Given the description of an element on the screen output the (x, y) to click on. 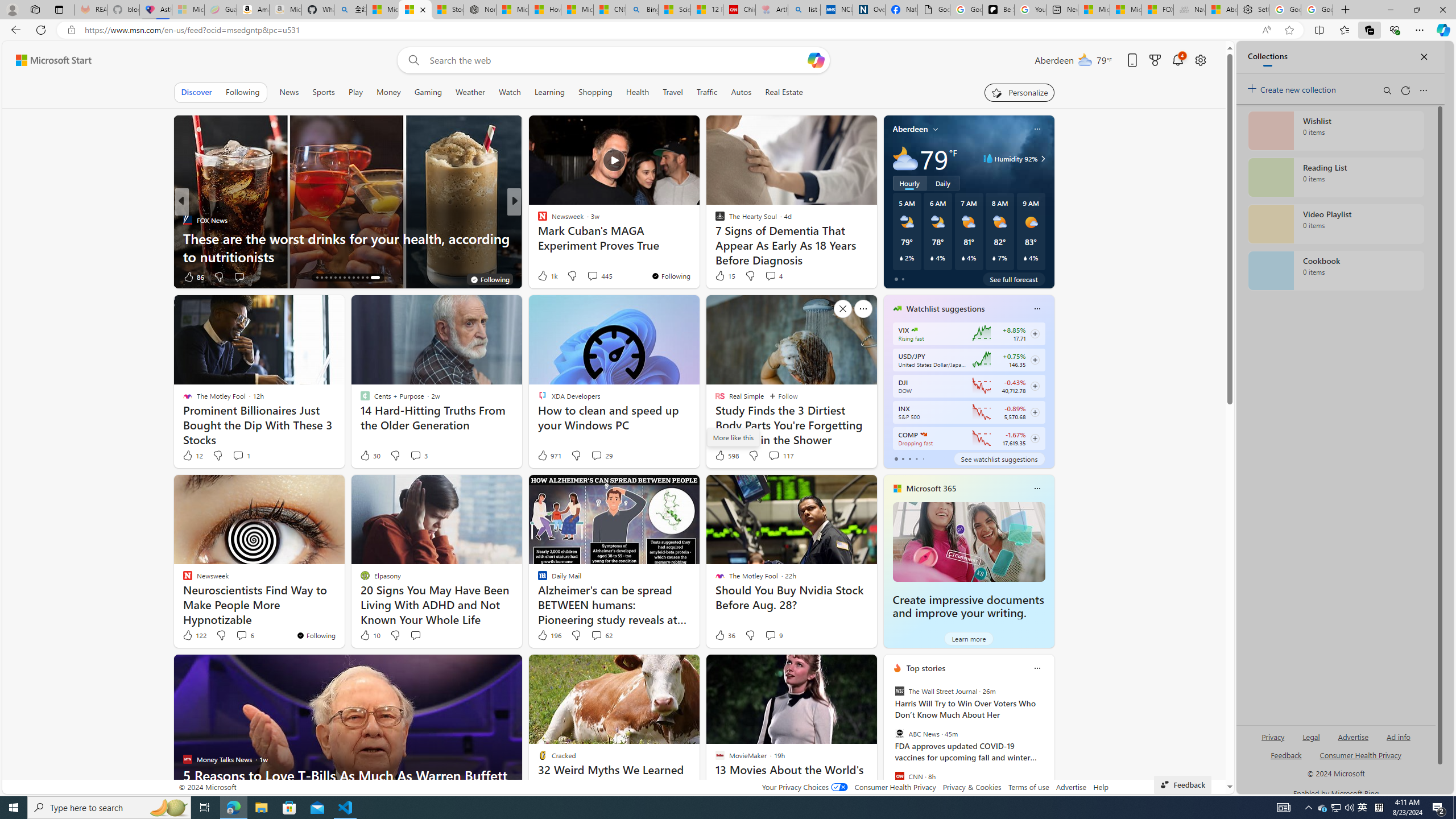
AutomationID: tab-21 (348, 277)
View comments 117 Comment (773, 455)
30 Like (368, 455)
My location (936, 128)
Class: icon-img (1037, 668)
AutomationID: tab-14 (317, 277)
next (1047, 741)
Mostly cloudy (904, 158)
